Given the description of an element on the screen output the (x, y) to click on. 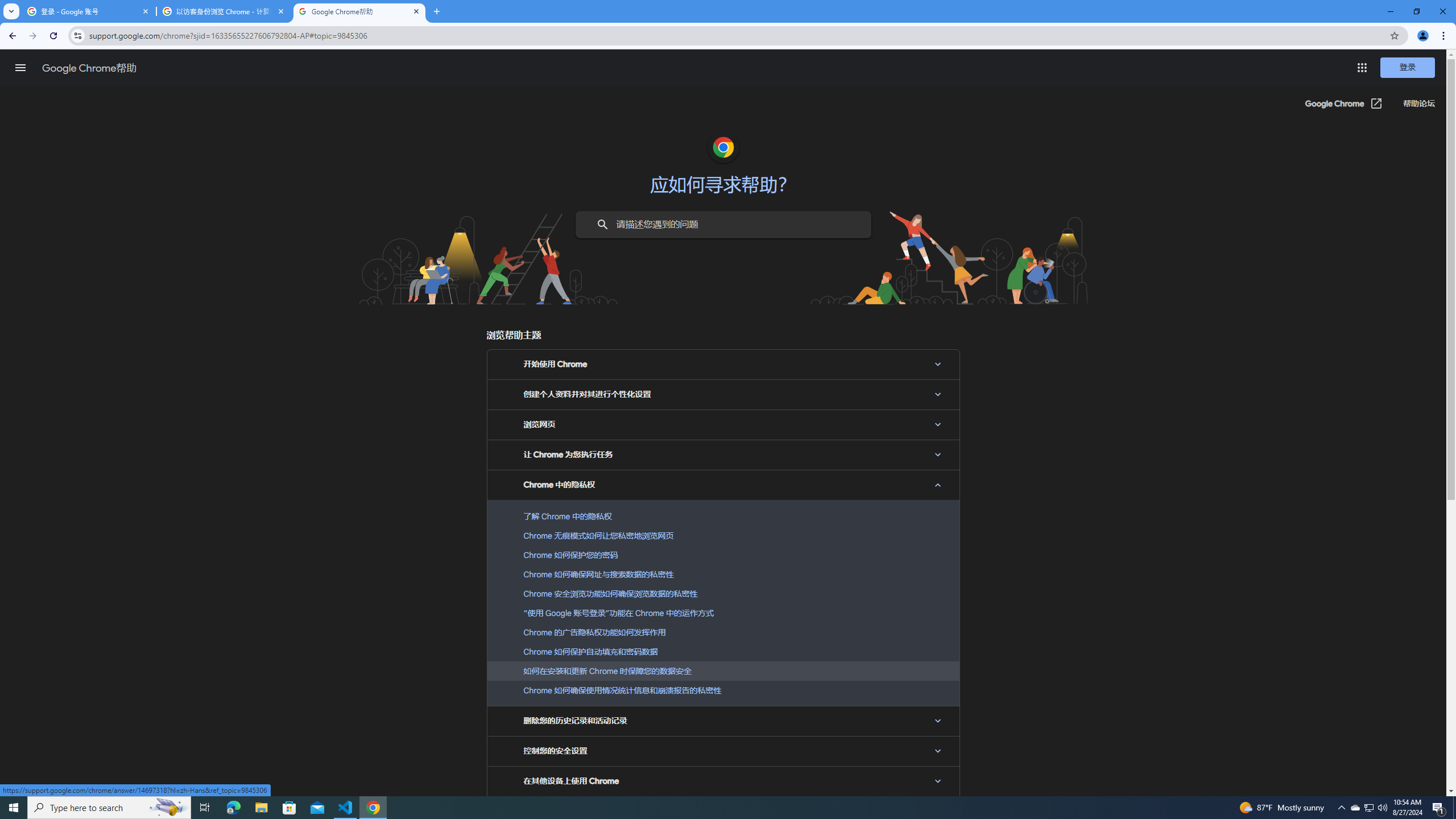
System (6, 6)
Reload (52, 35)
Address and search bar (735, 35)
New Tab (436, 11)
Restore (1416, 11)
